Given the description of an element on the screen output the (x, y) to click on. 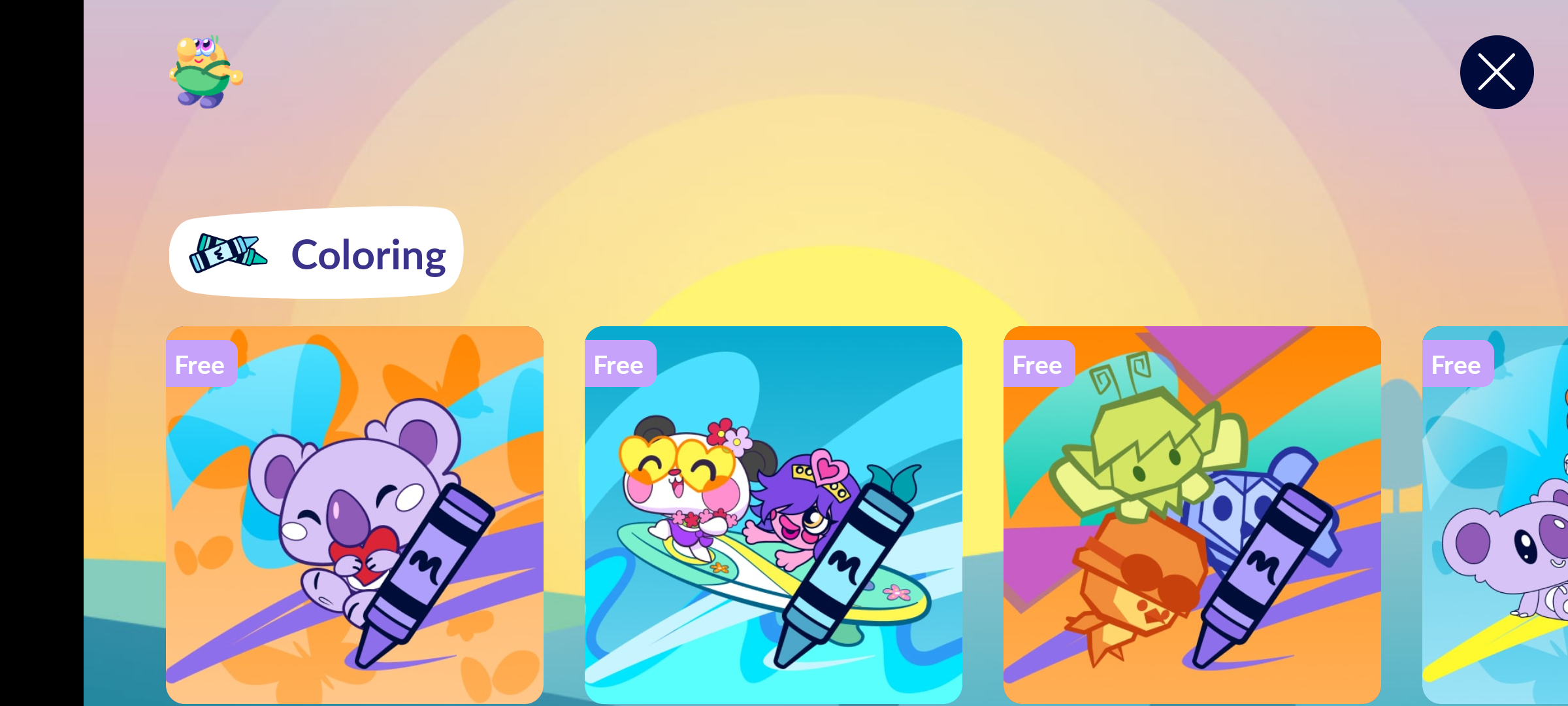
Profile icon (205, 71)
Featured Content Free (355, 514)
Featured Content Free (773, 514)
Featured Content Free (1192, 514)
